Given the description of an element on the screen output the (x, y) to click on. 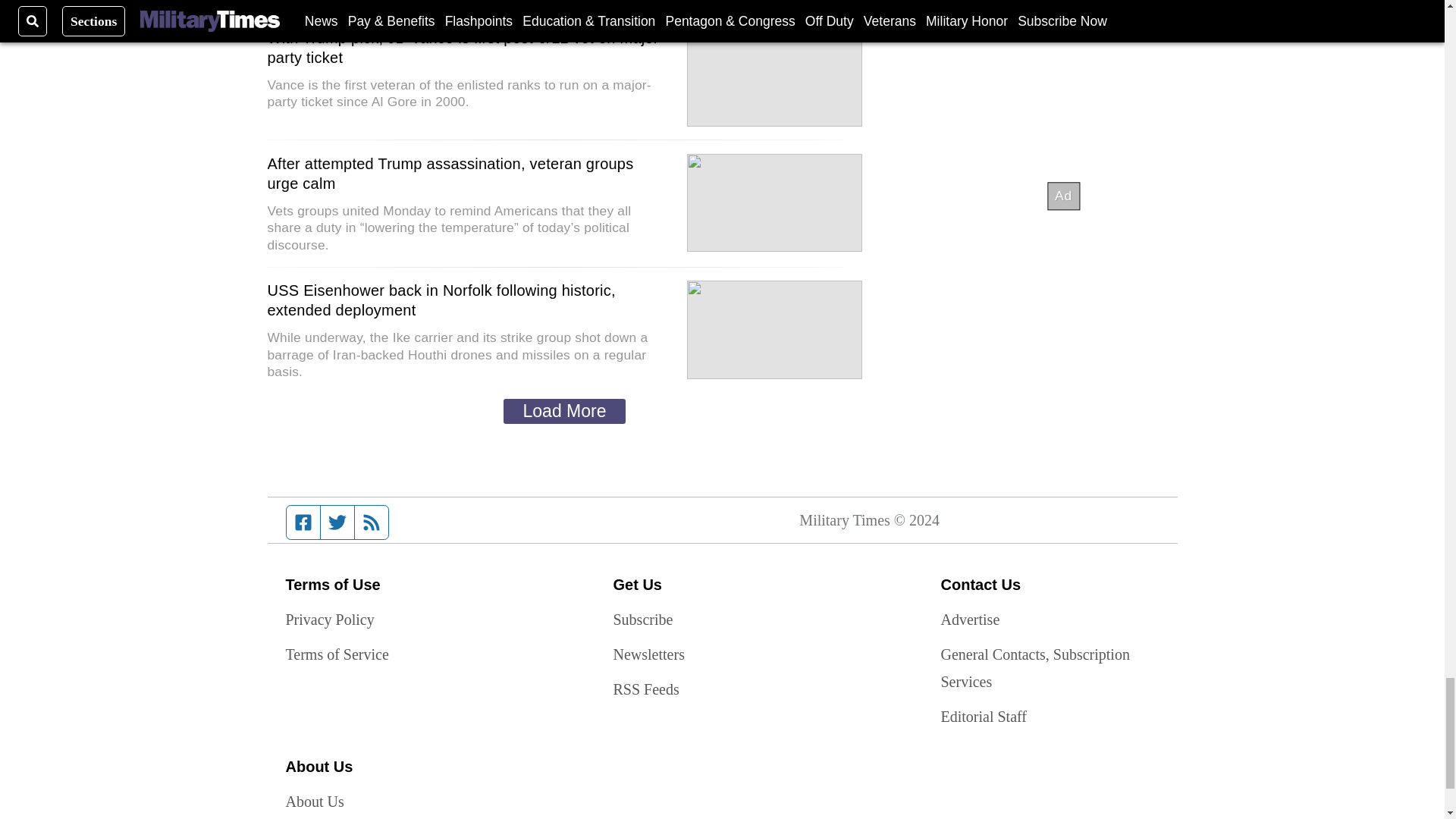
Twitter feed (336, 522)
RSS feed (371, 522)
Facebook page (303, 522)
